Given the description of an element on the screen output the (x, y) to click on. 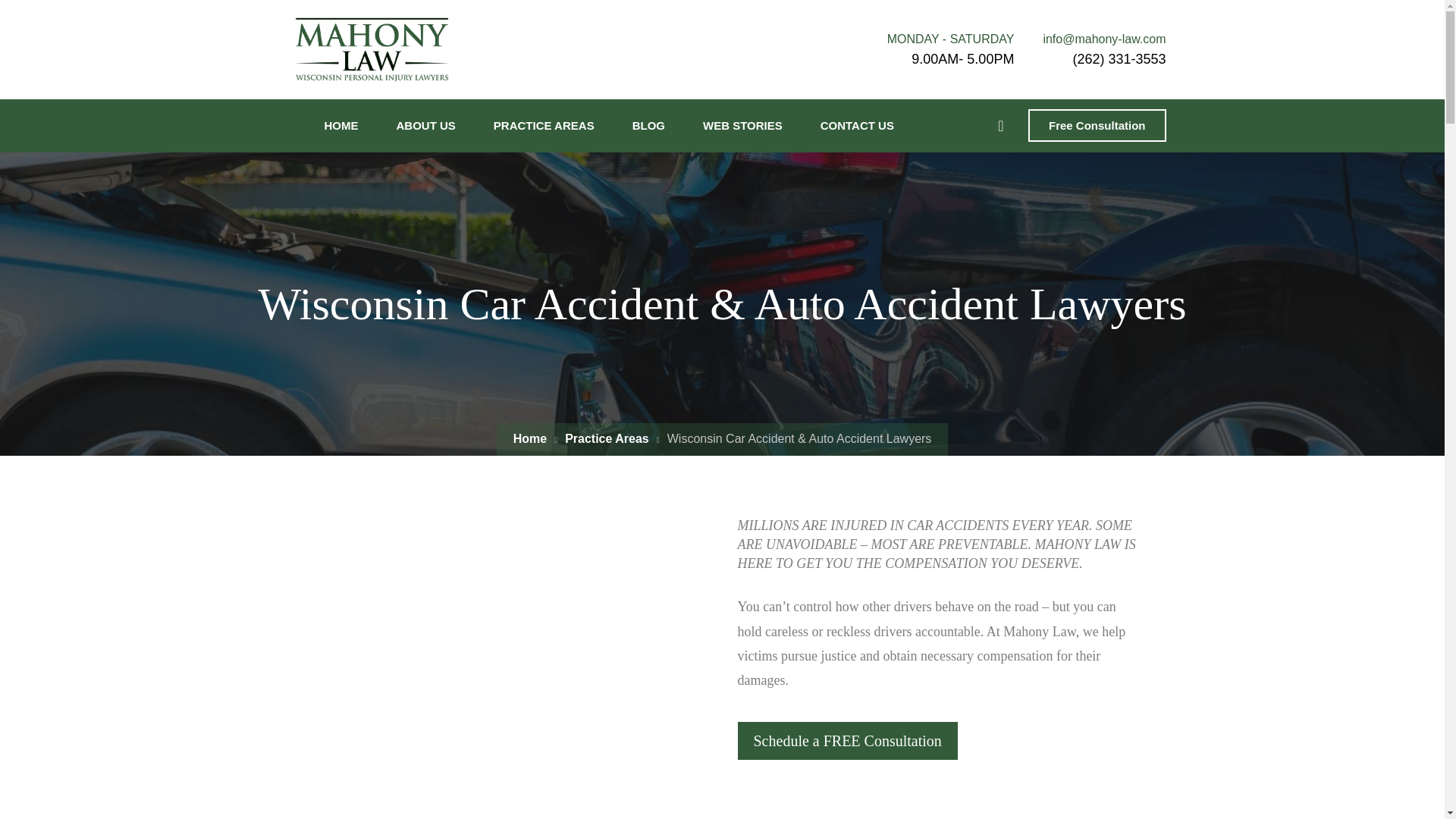
BLOG (648, 125)
ABOUT US (425, 125)
HOME (338, 125)
CONTACT US (856, 125)
WEB STORIES (742, 125)
Free Consultation (1096, 124)
PRACTICE AREAS (544, 125)
Contact (846, 740)
